Given the description of an element on the screen output the (x, y) to click on. 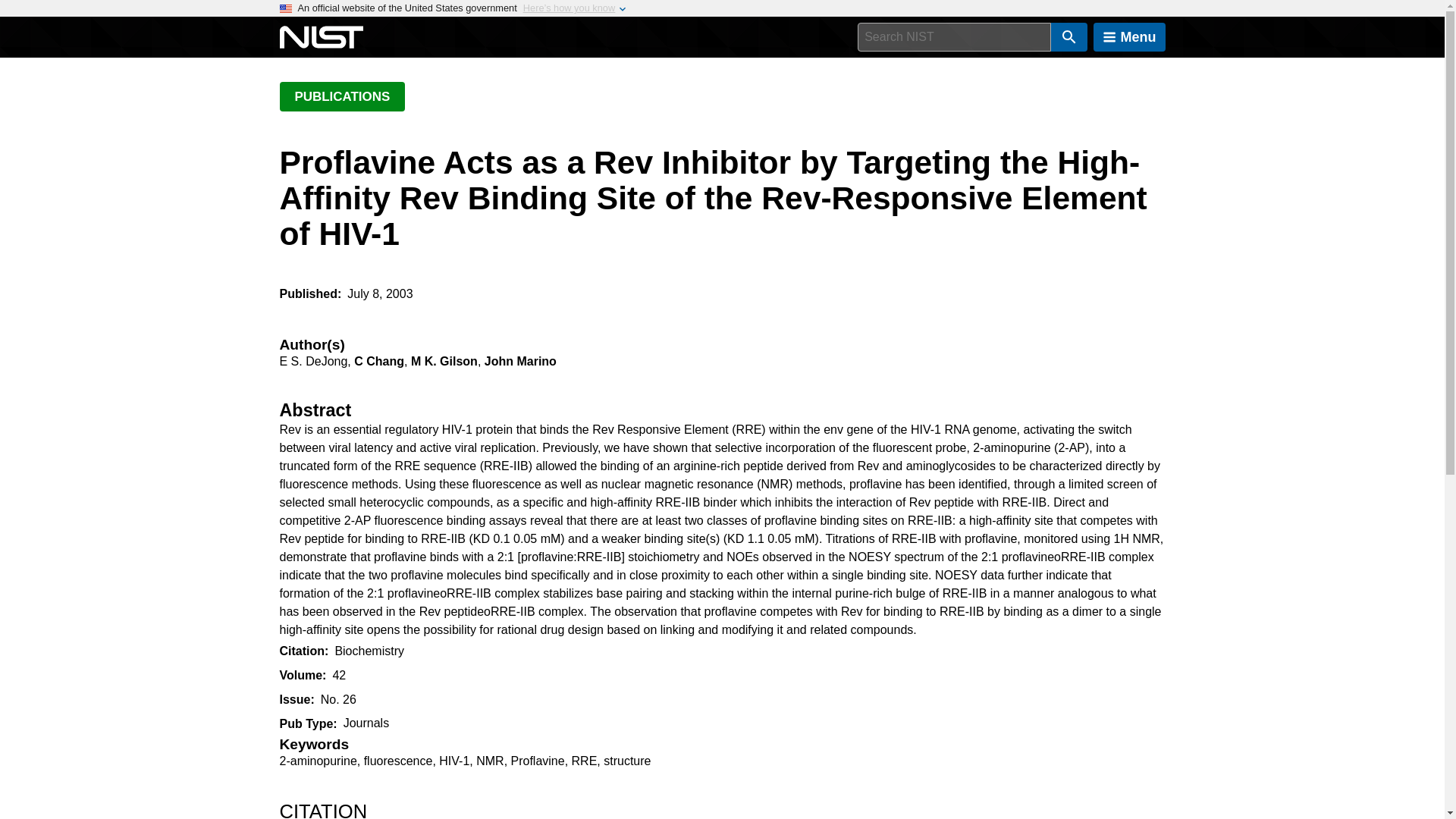
Menu (1129, 36)
PUBLICATIONS (341, 96)
National Institute of Standards and Technology (320, 36)
